Given the description of an element on the screen output the (x, y) to click on. 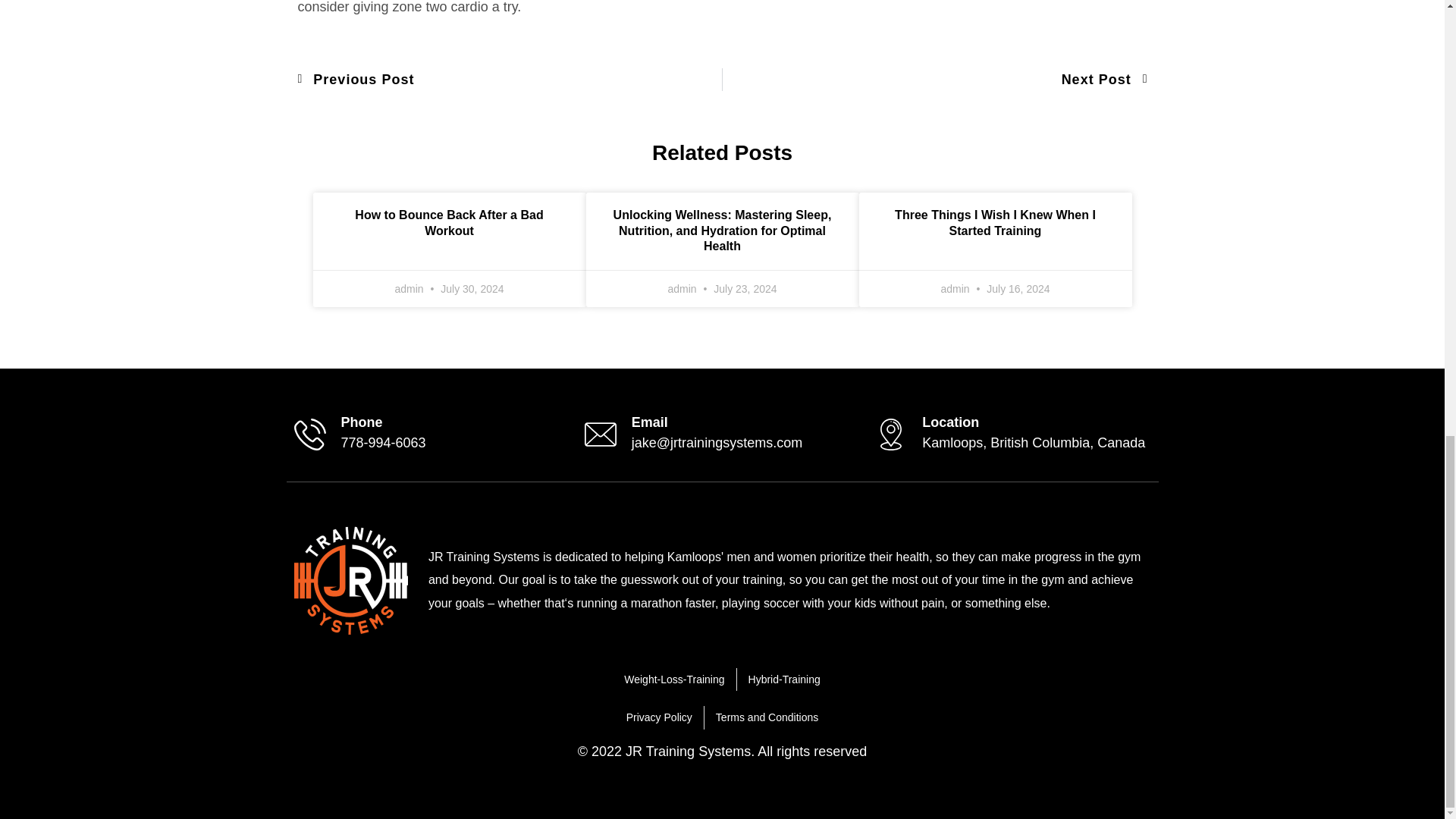
How to Bounce Back After a Bad Workout (449, 222)
Email (509, 79)
jackrichardlogo-Main.png (649, 421)
Phone (934, 79)
Three Things I Wish I Knew When I Started Training (350, 581)
Hybrid-Training (361, 421)
Weight-Loss-Training (995, 222)
